Given the description of an element on the screen output the (x, y) to click on. 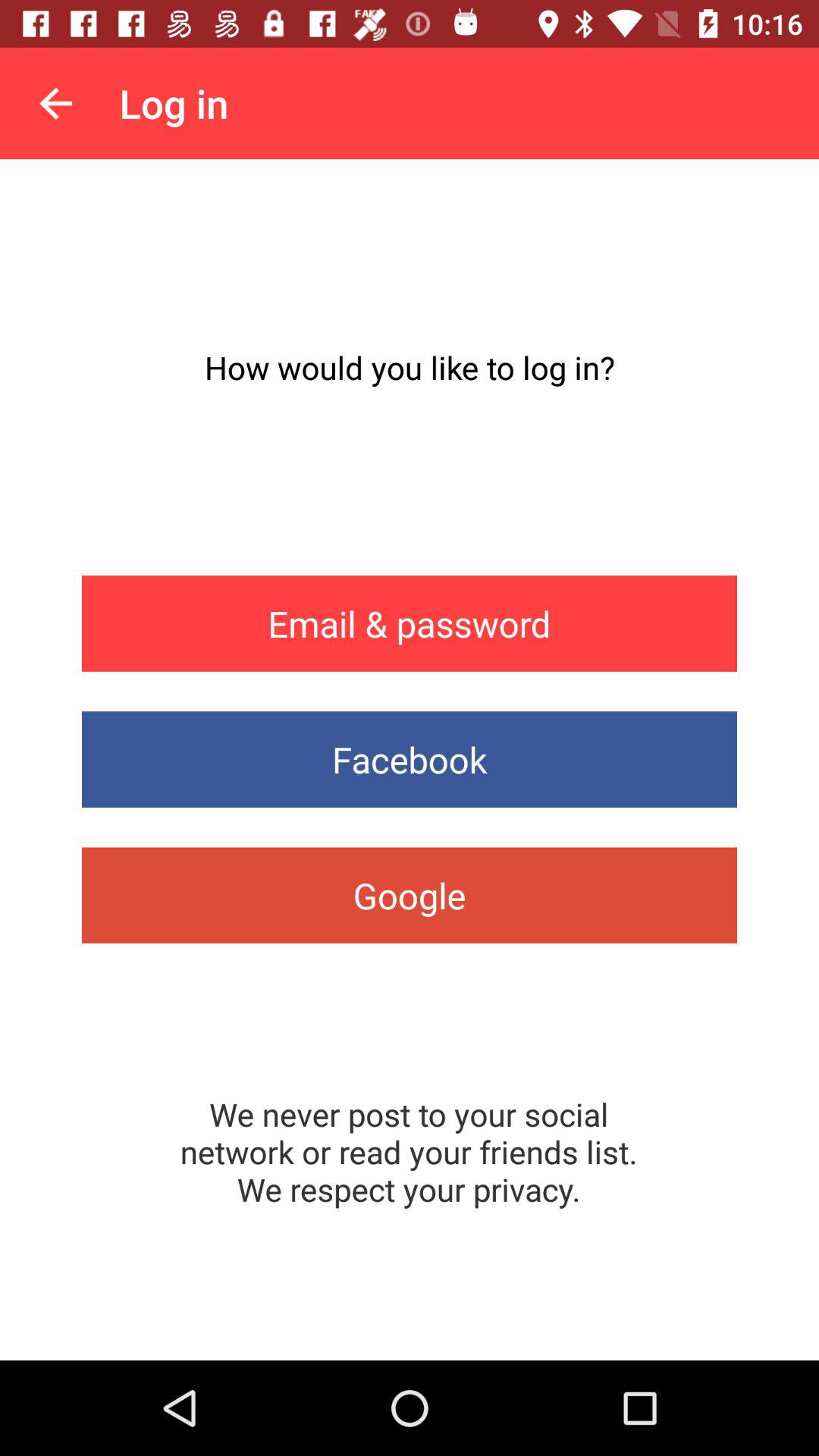
turn off icon above facebook (409, 623)
